Given the description of an element on the screen output the (x, y) to click on. 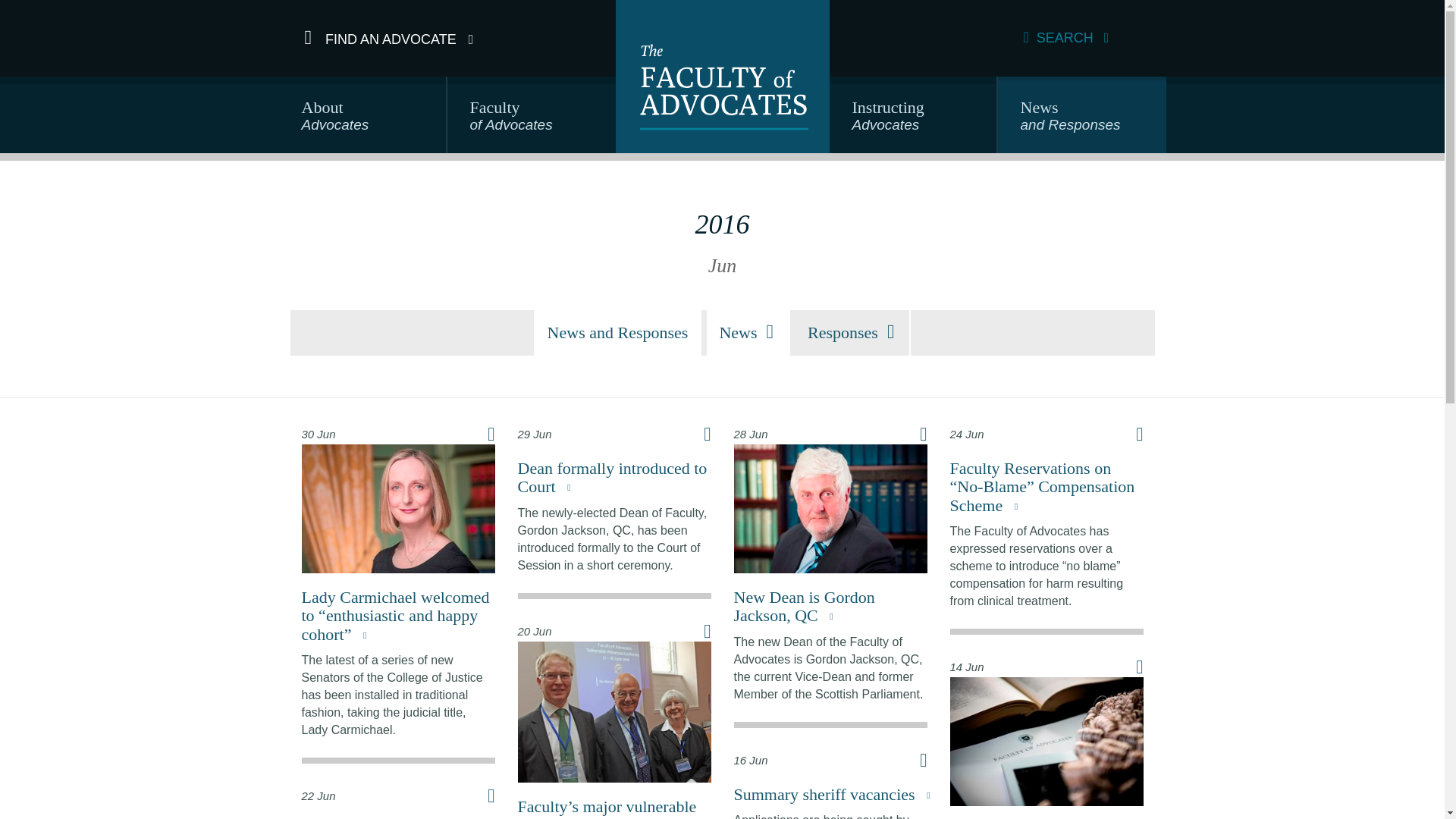
FIND AN ADVOCATE (389, 38)
SEARCH (1066, 38)
